Given the description of an element on the screen output the (x, y) to click on. 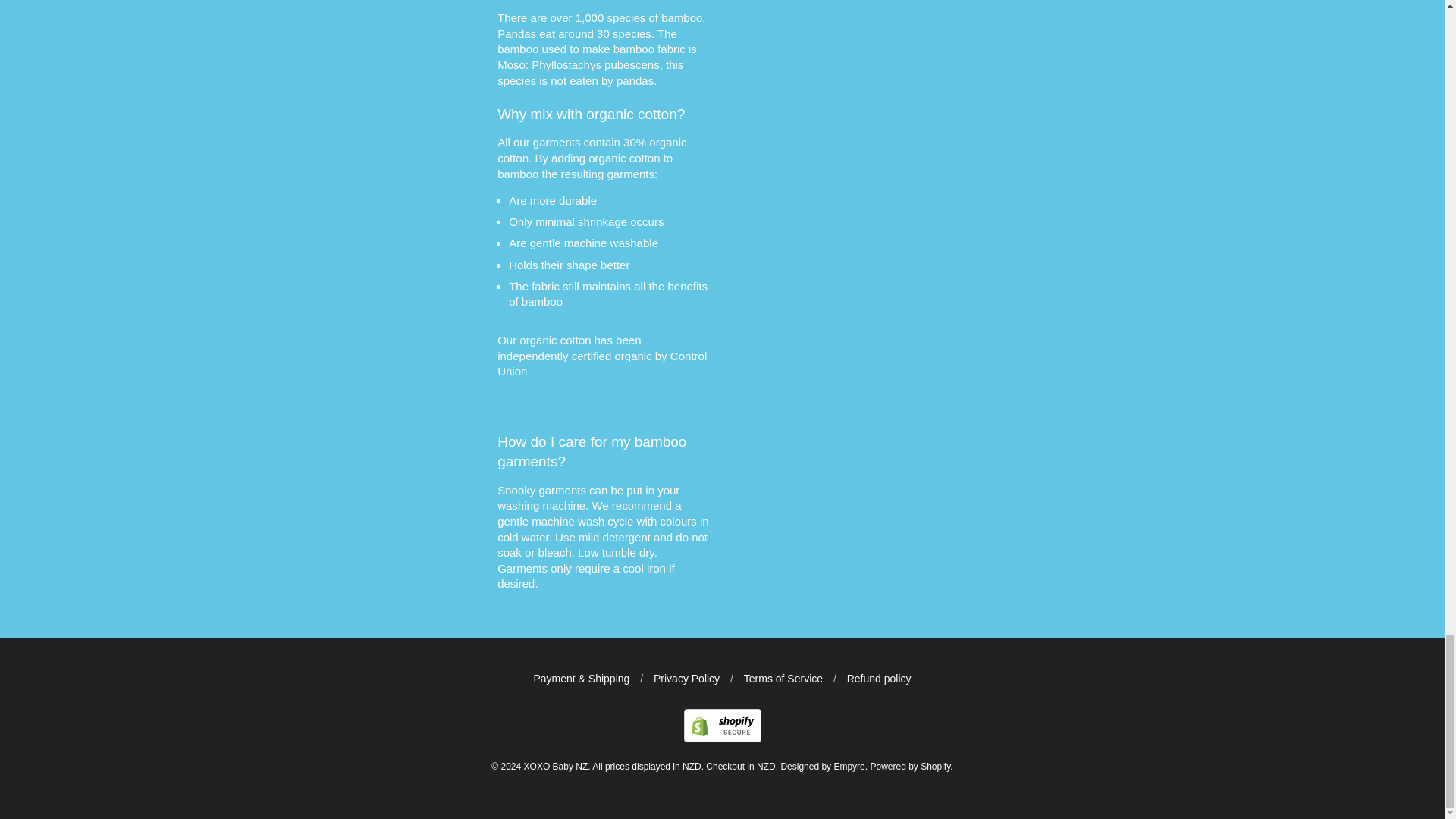
xoxobabynz (722, 738)
certified (591, 355)
Privacy Policy (686, 678)
